Given the description of an element on the screen output the (x, y) to click on. 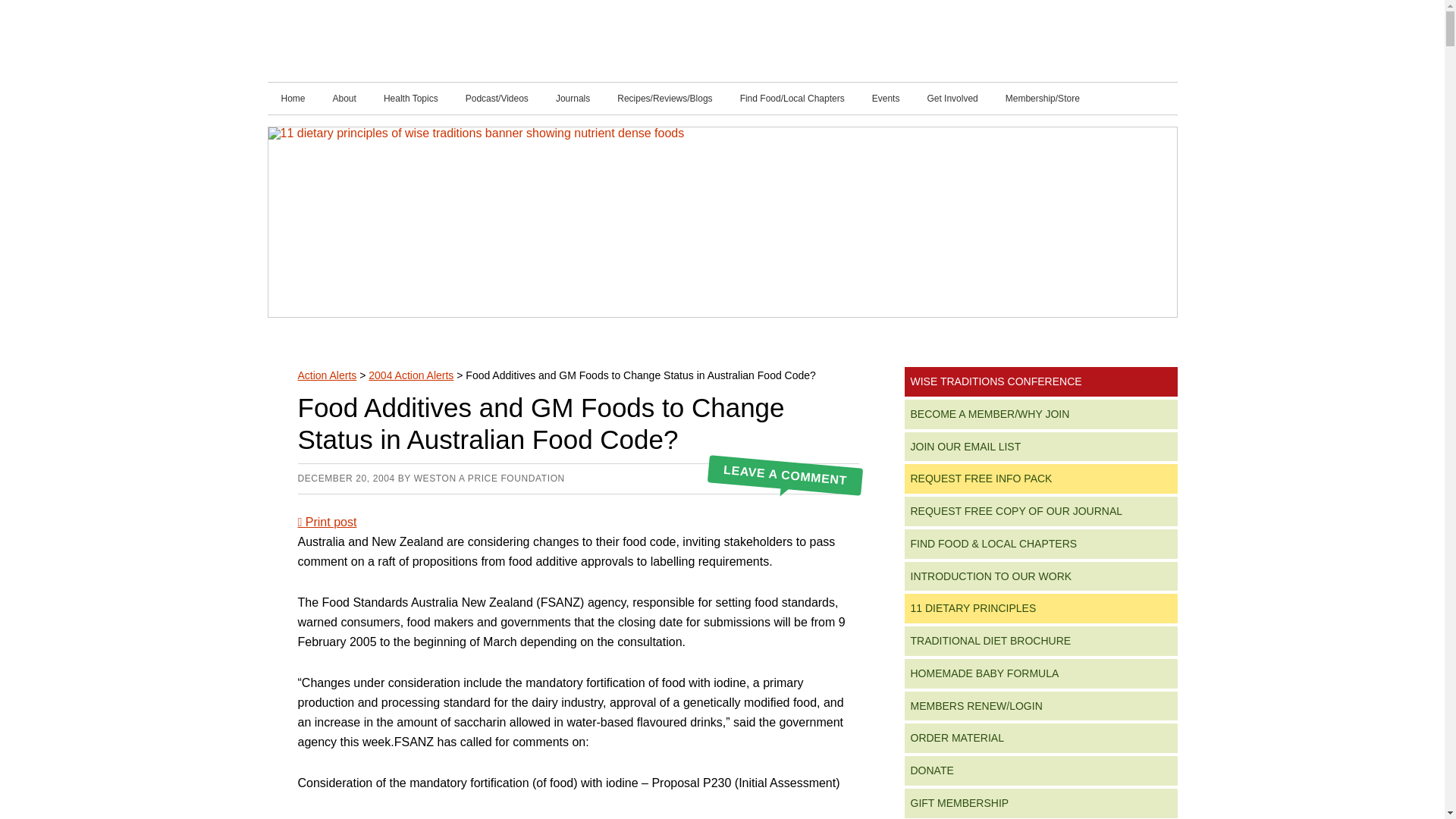
Home (292, 98)
Go to the 2004 Action Alerts category archives. (410, 375)
11-principles-banner-home-slider (721, 133)
Go to the Action Alerts category archives. (326, 375)
About (343, 98)
Journals (572, 98)
Health Topics (410, 98)
The Weston A. Price Foundation (462, 40)
The Weston A. Price Foundation (462, 40)
